Given the description of an element on the screen output the (x, y) to click on. 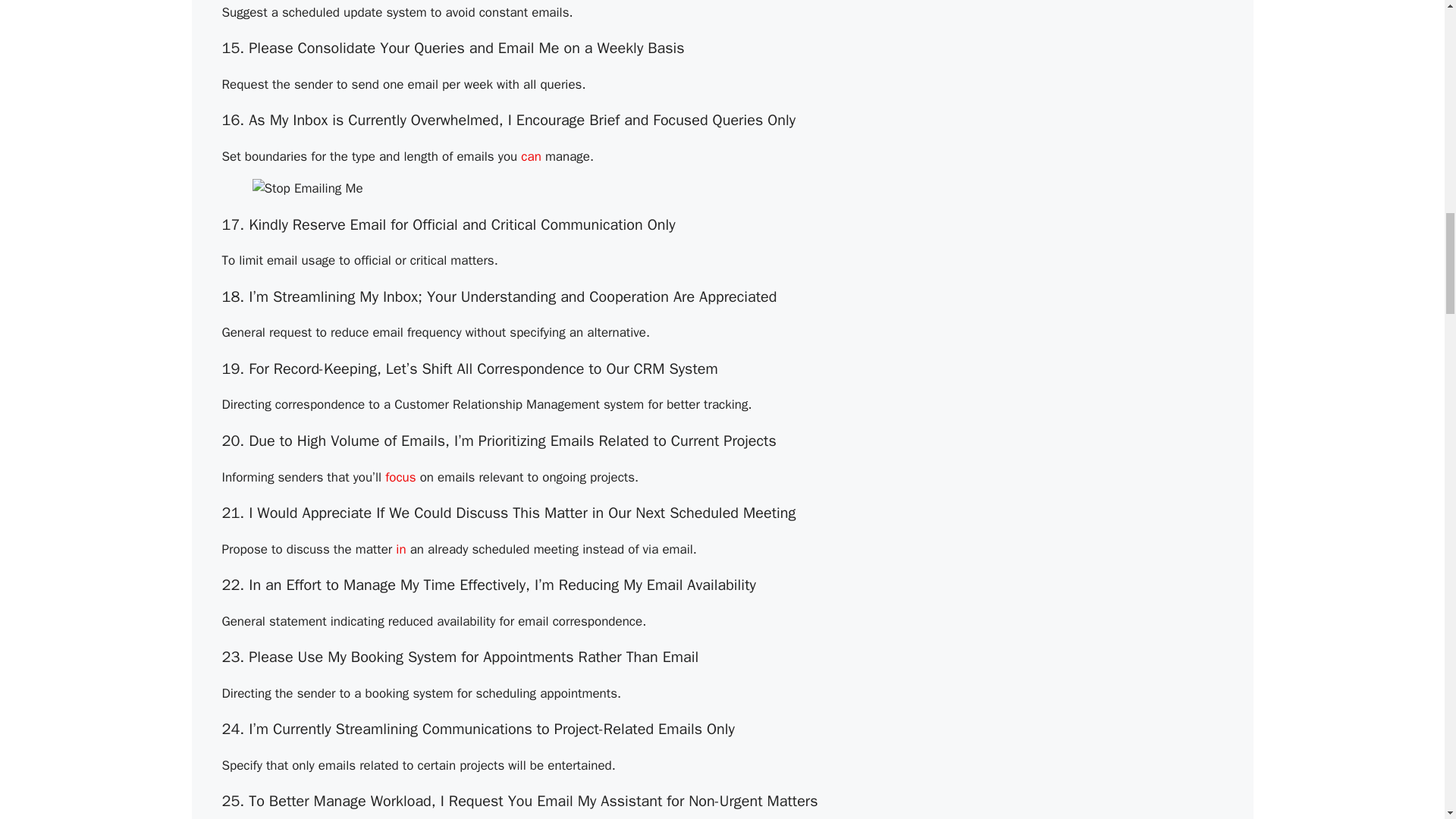
in (401, 549)
How to Professionally Say Stop Emailing Me 3 (306, 188)
focus (399, 477)
can (530, 156)
